Given the description of an element on the screen output the (x, y) to click on. 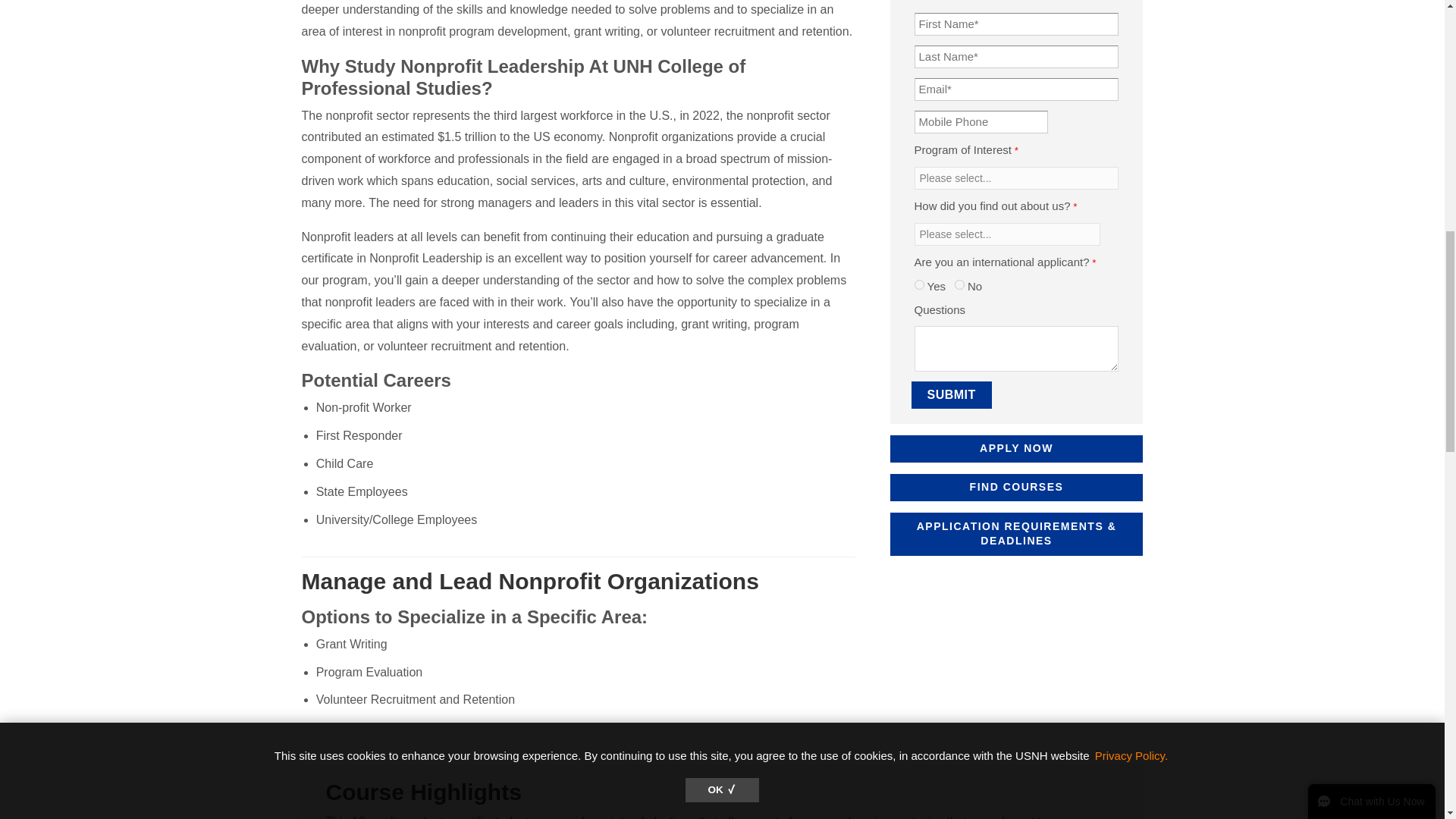
Questions (1016, 348)
Program of Interest (1016, 178)
Last Name (1016, 56)
Email (1016, 88)
Mobile Phone (981, 121)
How did you find out about us? (1007, 233)
First Name (1016, 24)
Submit (951, 394)
